Given the description of an element on the screen output the (x, y) to click on. 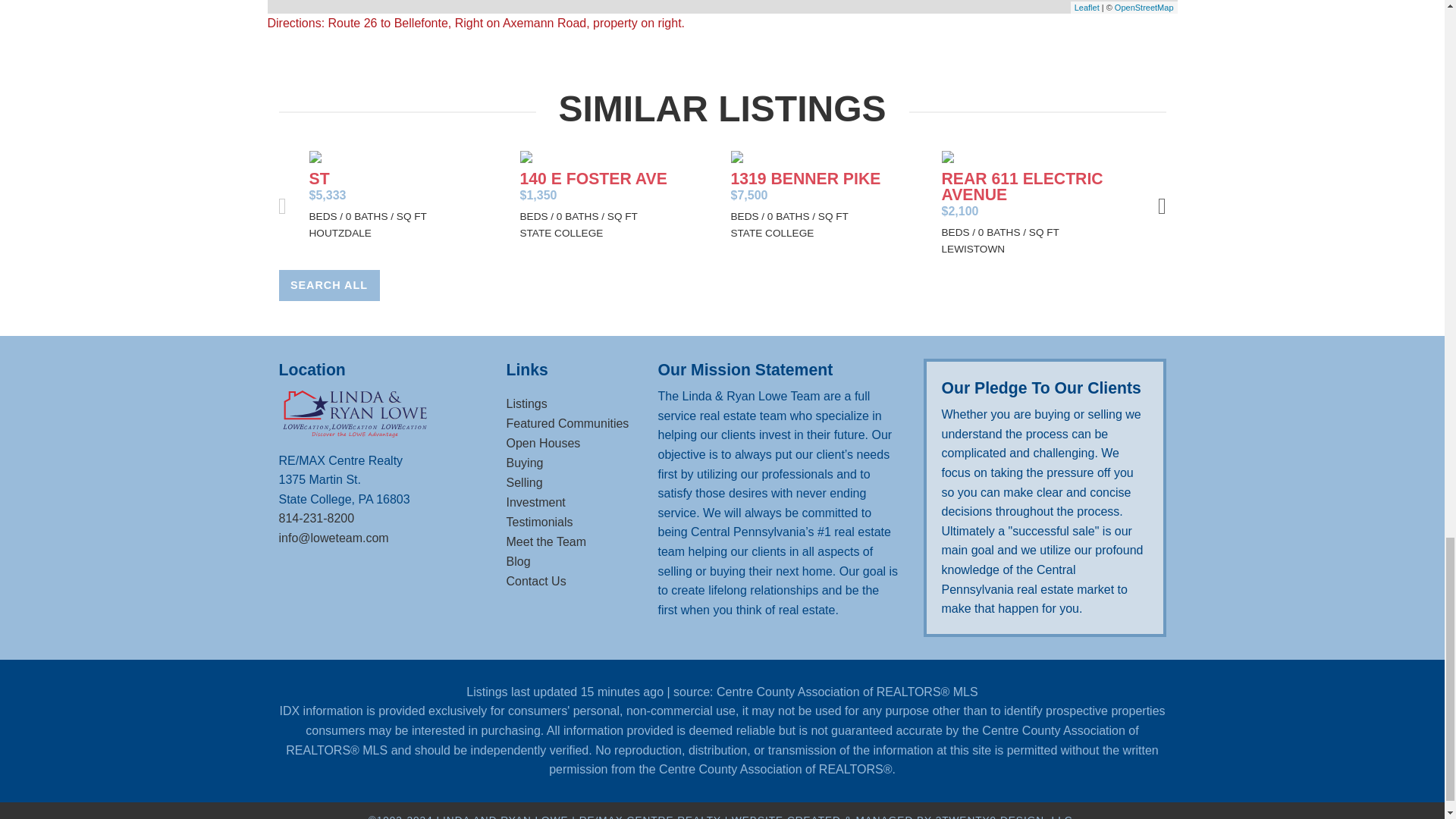
A JS library for interactive maps (1086, 7)
